Given the description of an element on the screen output the (x, y) to click on. 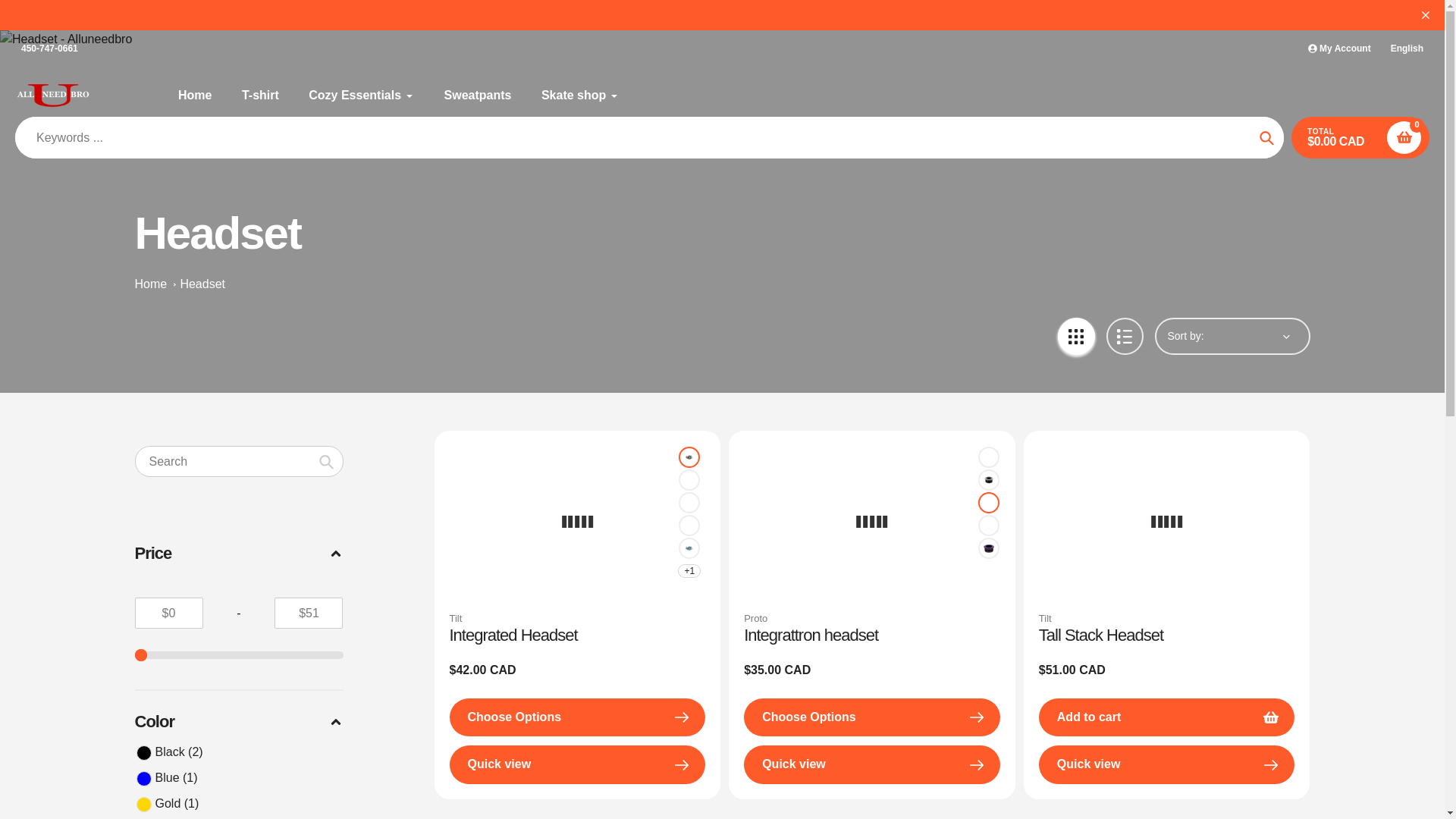
Gold (688, 525)
0 (239, 655)
0 (239, 655)
450-747-0661 (49, 48)
Purple (688, 502)
Blue (688, 548)
Cozy Essentials (360, 95)
Skate shop (579, 95)
Orange (988, 502)
Home (194, 95)
Black (988, 457)
Purple (988, 548)
Red (688, 479)
Sweatpants (478, 95)
T-shirt (260, 95)
